Given the description of an element on the screen output the (x, y) to click on. 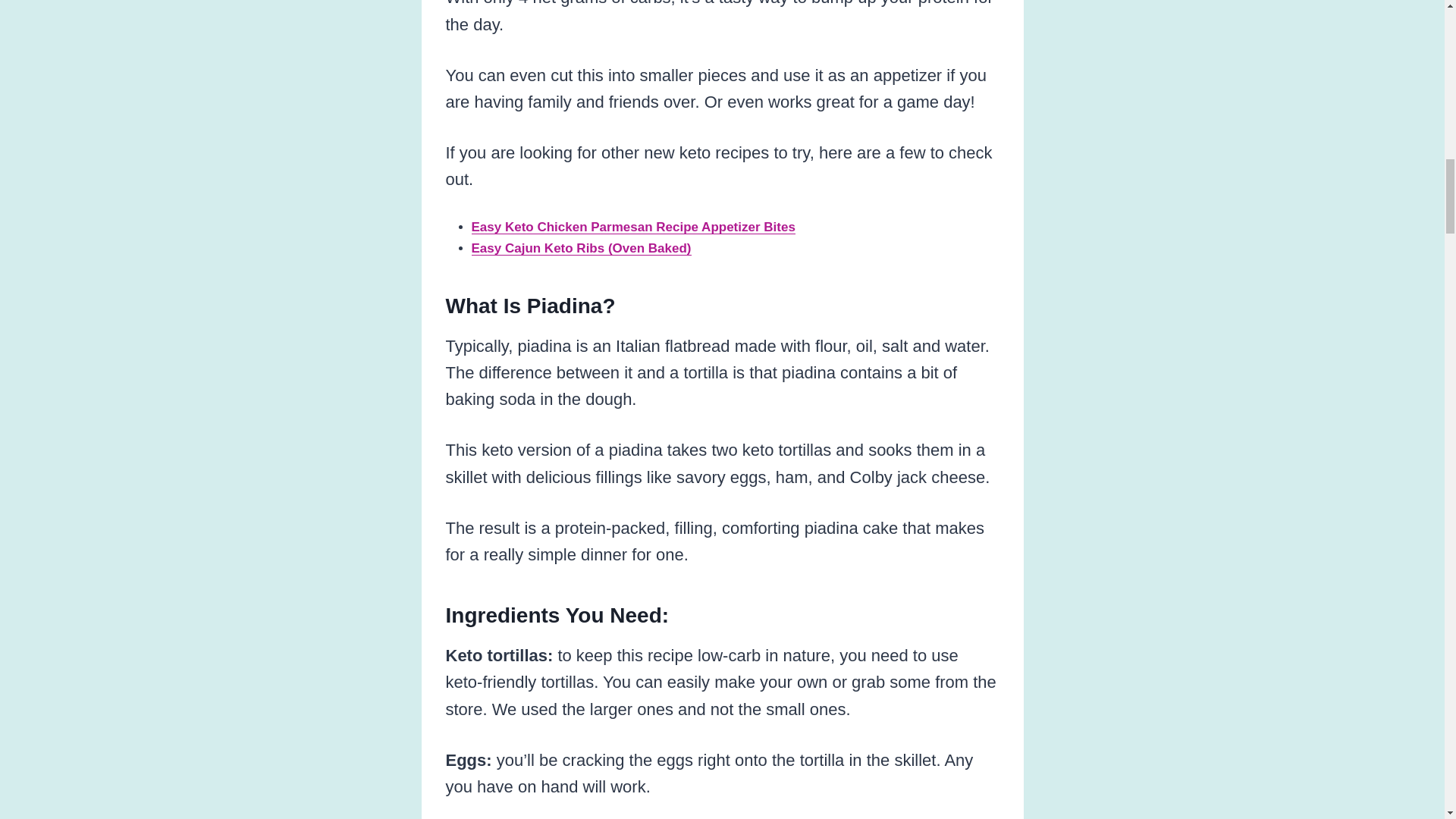
Easy Keto Chicken Parmesan Recipe Appetizer Bites (632, 227)
